Given the description of an element on the screen output the (x, y) to click on. 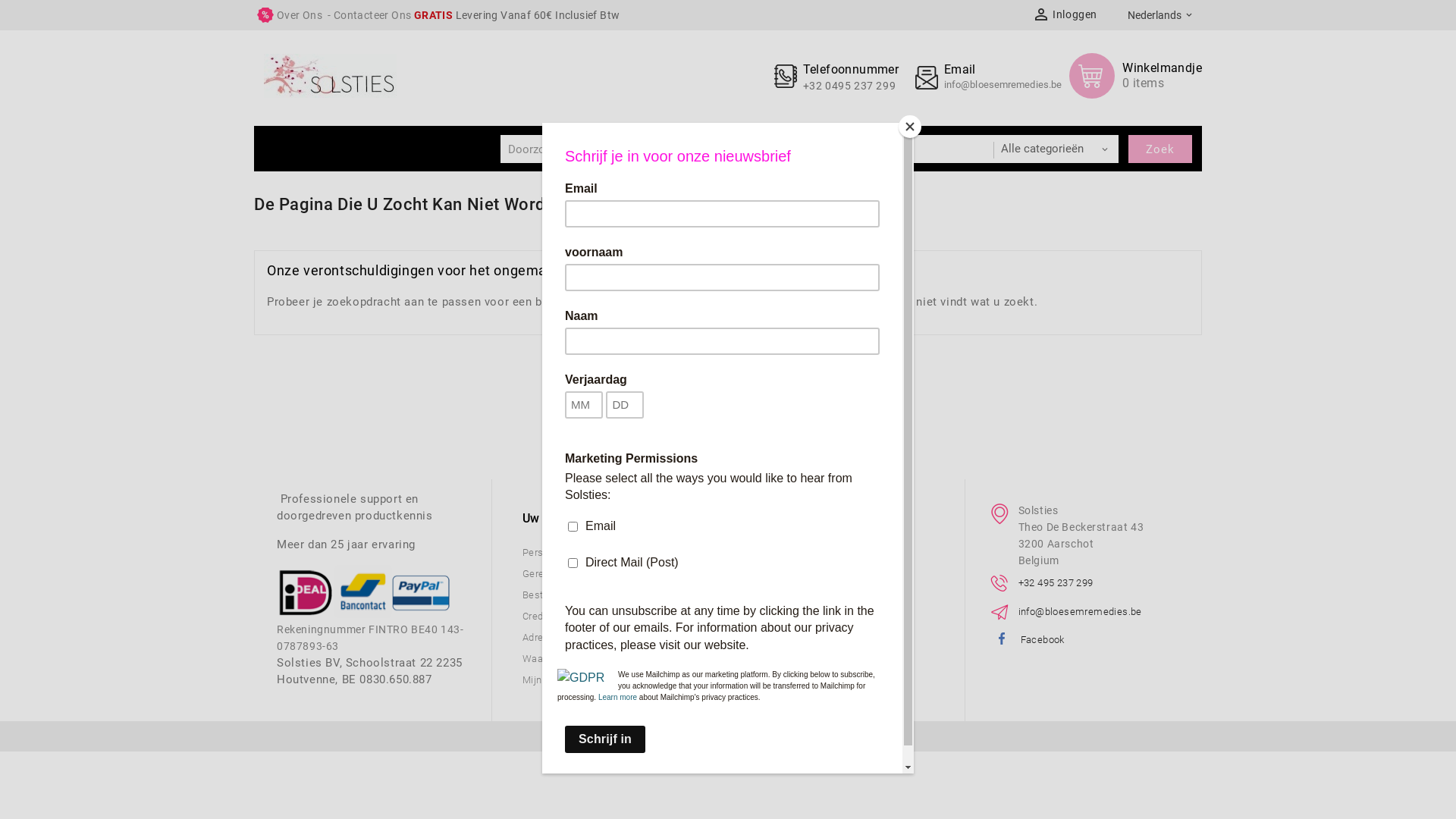
PrestaShop Element type: text (727, 736)
Uw Account Element type: text (585, 518)
Winkelmandje
0 items Element type: text (1135, 75)
Over Ons Element type: text (299, 15)
Creditnota's Element type: text (549, 615)
Facebook Element type: text (1042, 639)
Mijn notificaties Element type: text (559, 679)
- Contacteer Ons Element type: text (368, 15)
Waardebonnen Element type: text (556, 658)
info@bloesemremedies.be Element type: text (1002, 84)
Adressen Element type: text (543, 637)
+32 495 237 299 Element type: text (1054, 582)
Geretourneerde producten Element type: text (582, 573)
Persoonlijke Info Element type: text (560, 552)
Zoek Element type: text (1160, 148)
+32 0495 237 299 Element type: text (849, 85)
info@bloesemremedies.be Element type: text (1079, 611)
Bestellingen Element type: text (550, 594)
